Given the description of an element on the screen output the (x, y) to click on. 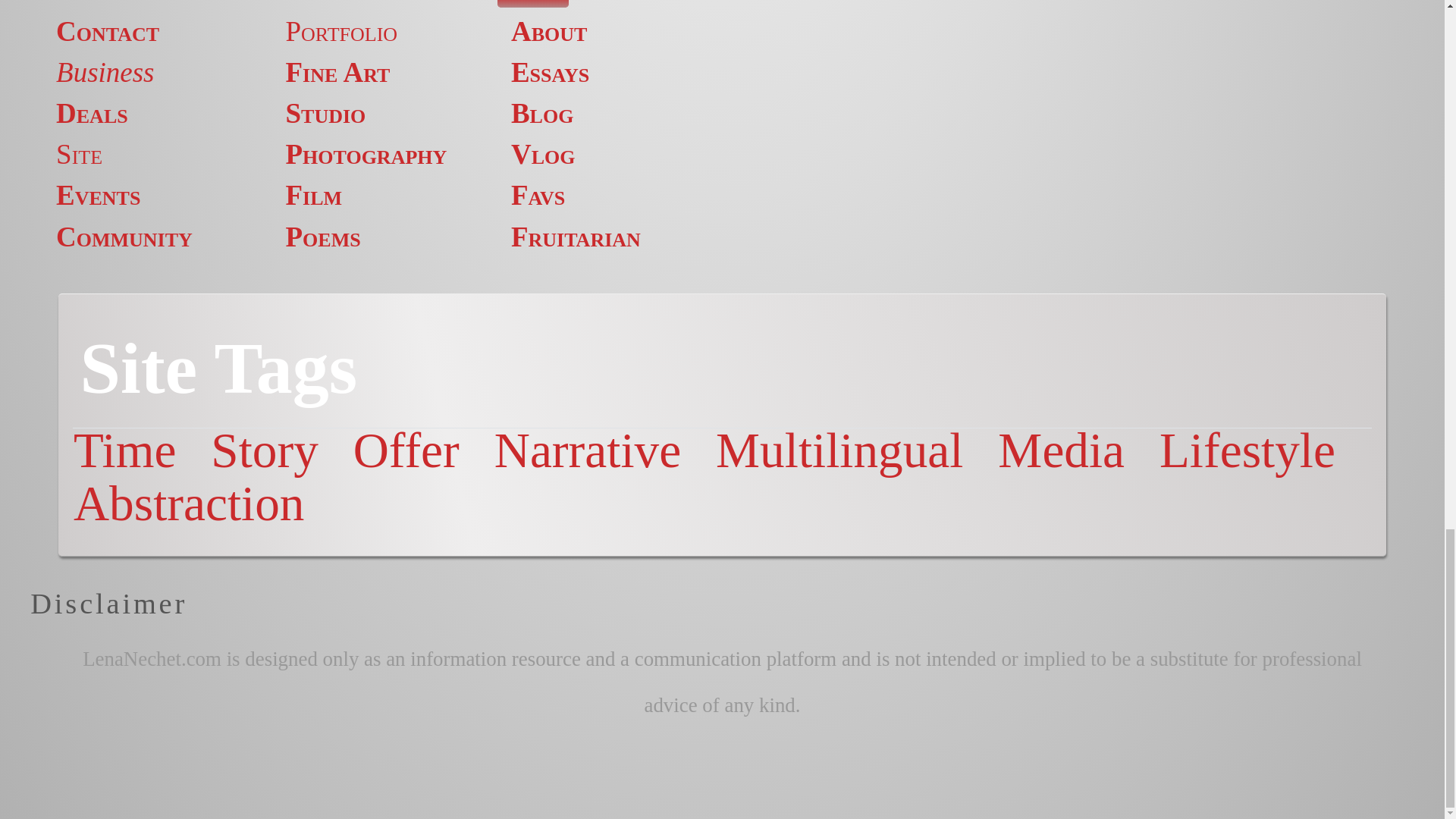
Structure of this website and updates (78, 153)
Products and Services (92, 112)
Blog (542, 112)
Vlog (543, 153)
Contact (107, 30)
Studio (325, 112)
Photography (365, 153)
Community (124, 236)
Fine art, film, photography - art by Lena Nechet (294, 2)
Business (105, 71)
Poems (323, 236)
Essays (550, 71)
Art (294, 2)
Art Studio (325, 112)
My own poetry. (323, 236)
